Given the description of an element on the screen output the (x, y) to click on. 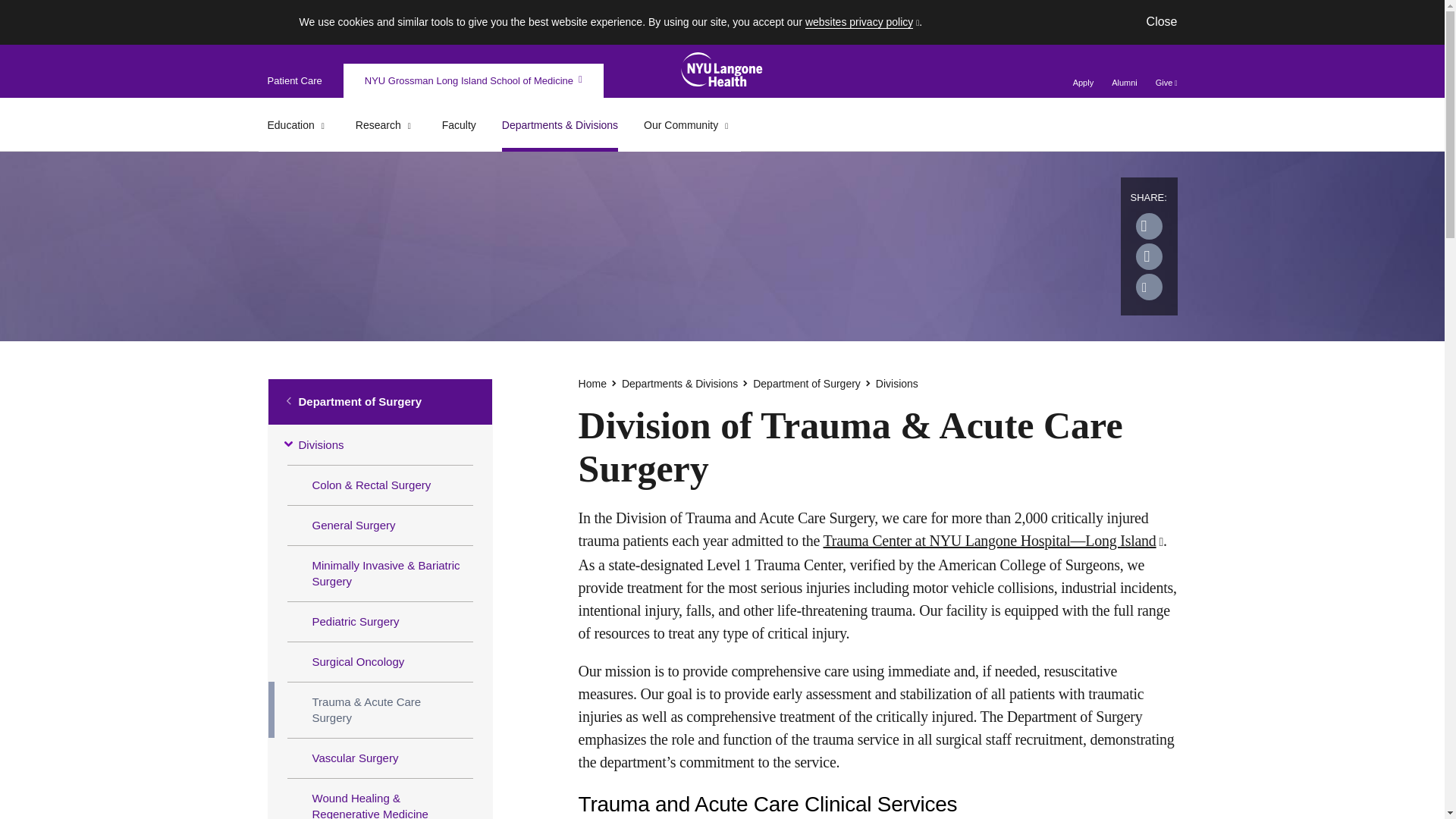
Apply (1083, 81)
Share by email (1148, 286)
Education (290, 125)
Share through twitter (1148, 225)
Give (1166, 81)
NYU Grossman Long Island School of Medicine (473, 80)
websites privacy policy . (863, 21)
Share through facebook (1148, 256)
Close (1162, 21)
Alumni (1124, 81)
Patient Care (294, 80)
